Given the description of an element on the screen output the (x, y) to click on. 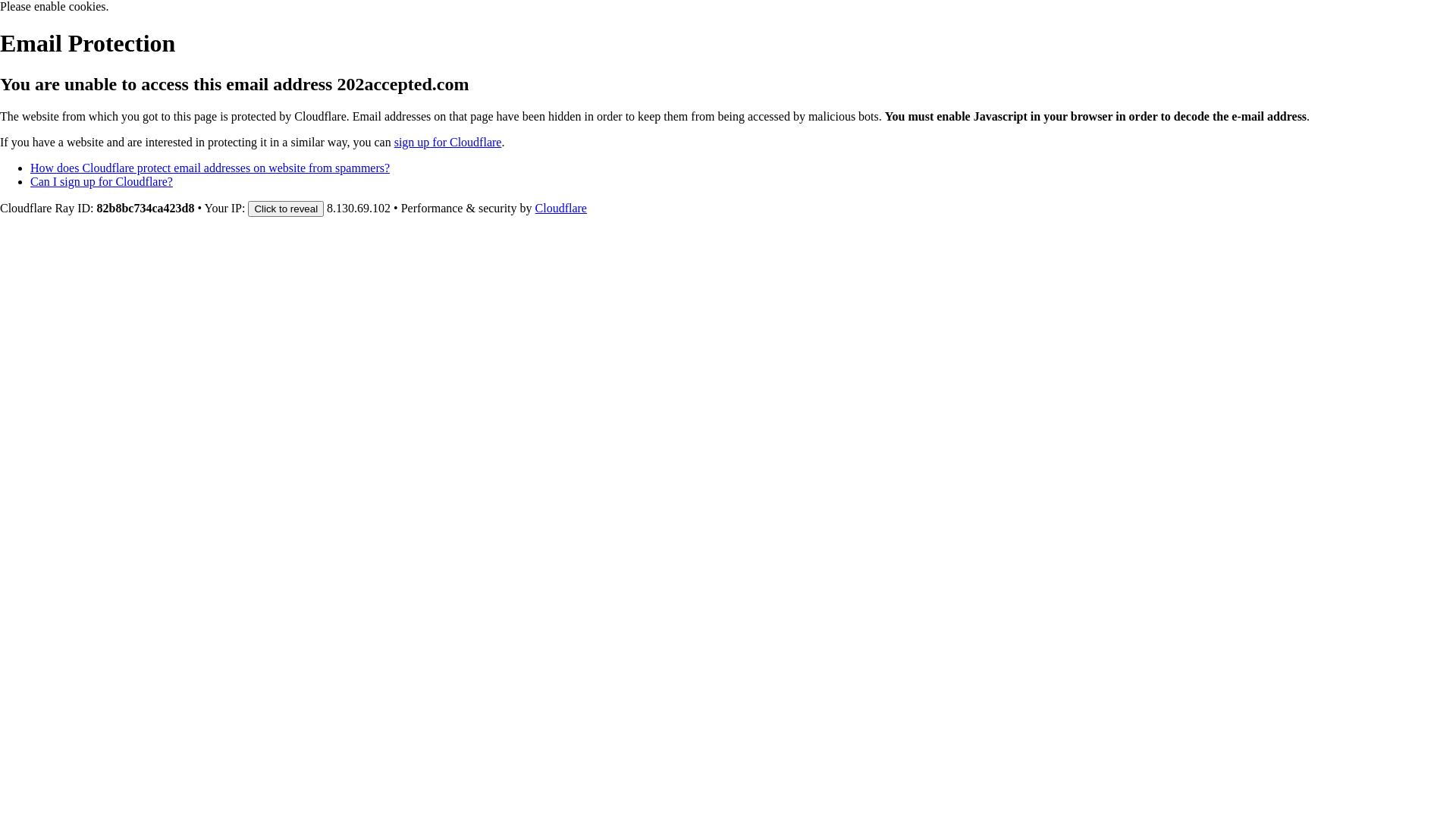
Can I sign up for Cloudflare? Element type: text (101, 181)
Cloudflare Element type: text (560, 207)
Click to reveal Element type: text (285, 208)
sign up for Cloudflare Element type: text (448, 141)
